Given the description of an element on the screen output the (x, y) to click on. 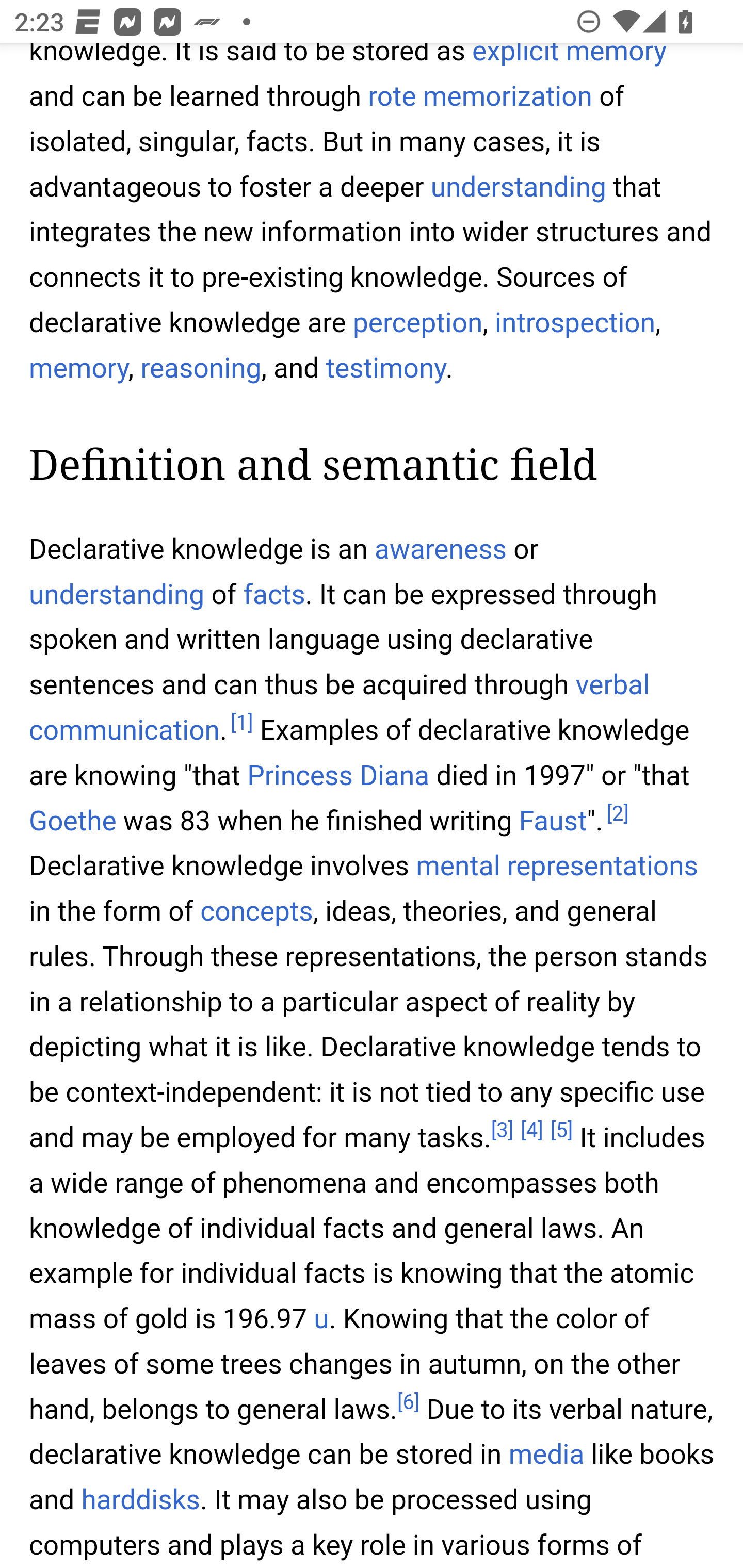
explicit memory (569, 55)
rote memorization (479, 98)
understanding (518, 187)
perception (417, 323)
introspection (575, 323)
memory (79, 368)
reasoning (199, 368)
testimony (385, 368)
awareness (440, 549)
understanding (116, 594)
facts (274, 594)
verbal communication (339, 708)
[] [ 1 ] (241, 723)
Princess Diana (338, 777)
[] [ 2 ] (617, 813)
Goethe (72, 821)
Faust (552, 821)
mental representations (556, 866)
concepts (256, 912)
[] [ 3 ] (501, 1131)
[] [ 4 ] (531, 1131)
[] [ 5 ] (561, 1131)
u (320, 1320)
[] [ 6 ] (407, 1403)
media (546, 1454)
harddisks (140, 1500)
